Given the description of an element on the screen output the (x, y) to click on. 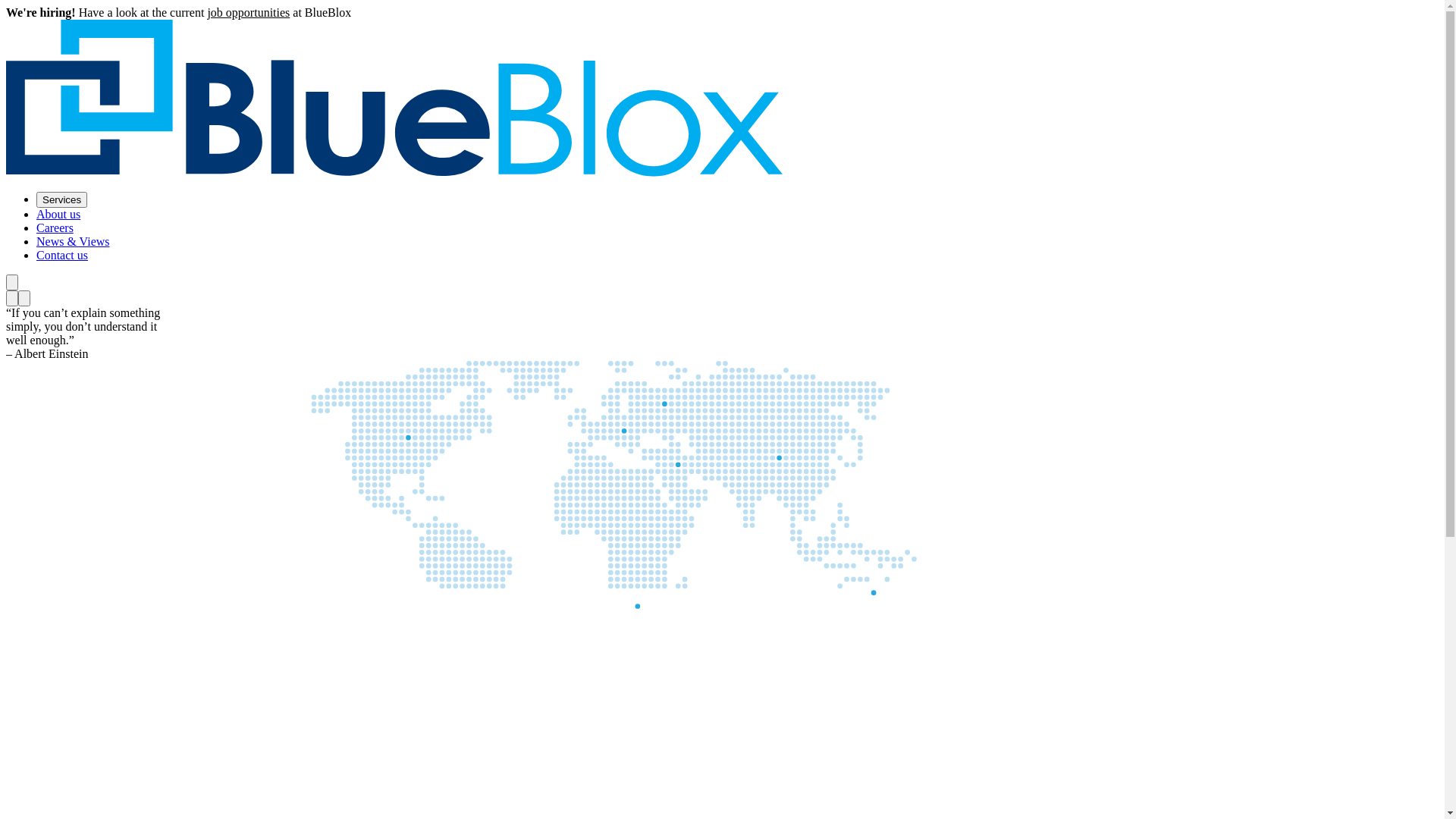
News & Views Element type: text (72, 241)
Services Element type: text (61, 199)
Careers Element type: text (54, 227)
About us Element type: text (58, 213)
Contact us Element type: text (61, 254)
